Given the description of an element on the screen output the (x, y) to click on. 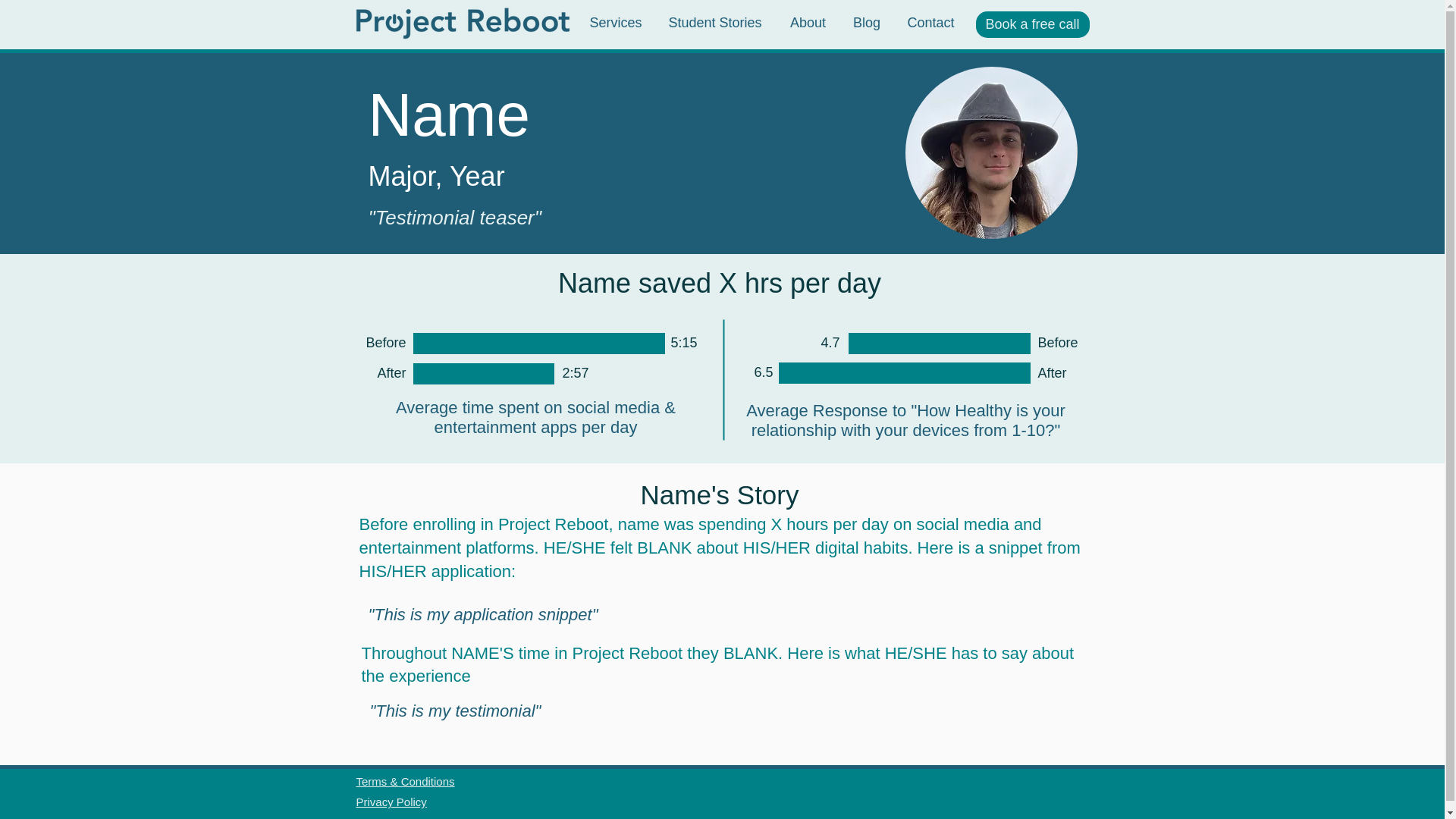
Student Stories (714, 22)
Privacy Policy (391, 801)
Blog (866, 22)
About (808, 22)
Contact (930, 22)
Services (615, 22)
Book a free call (1032, 24)
